Given the description of an element on the screen output the (x, y) to click on. 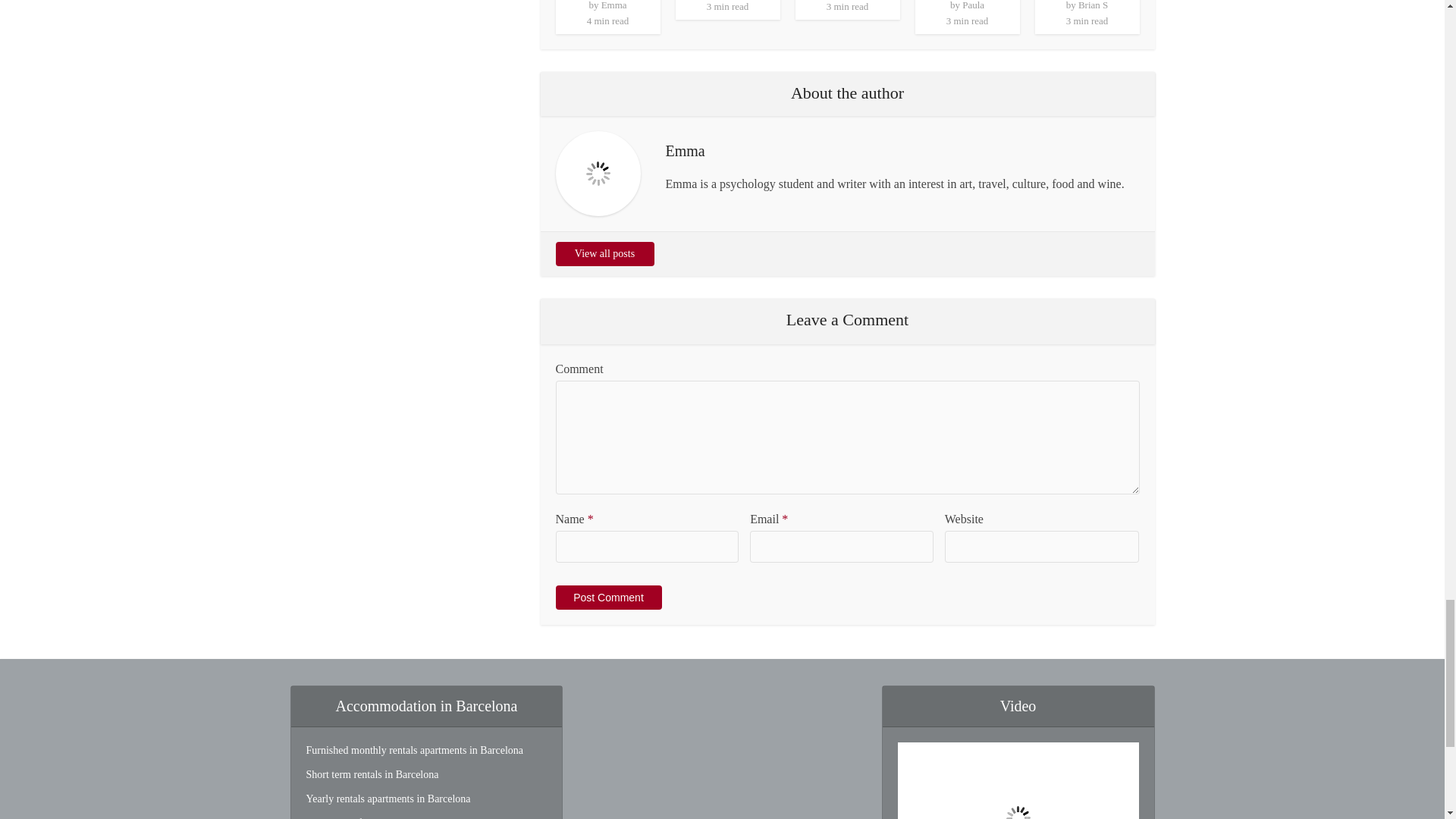
Post Comment (607, 597)
